Given the description of an element on the screen output the (x, y) to click on. 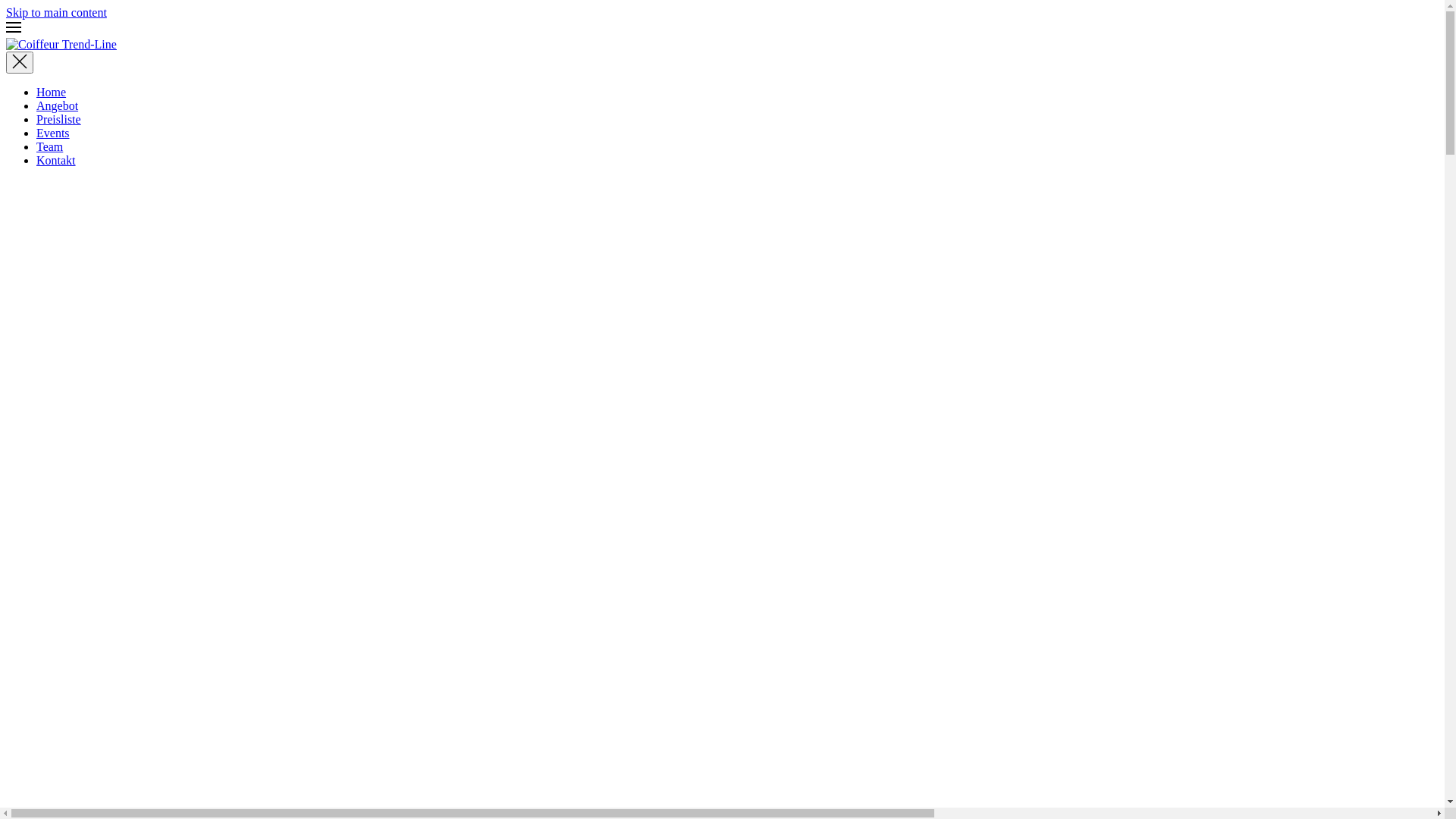
Events Element type: text (52, 132)
Home Element type: text (50, 91)
Kontakt Element type: text (55, 159)
Angebot Element type: text (57, 105)
Skip to main content Element type: text (56, 12)
Team Element type: text (49, 146)
Preisliste Element type: text (58, 118)
